Given the description of an element on the screen output the (x, y) to click on. 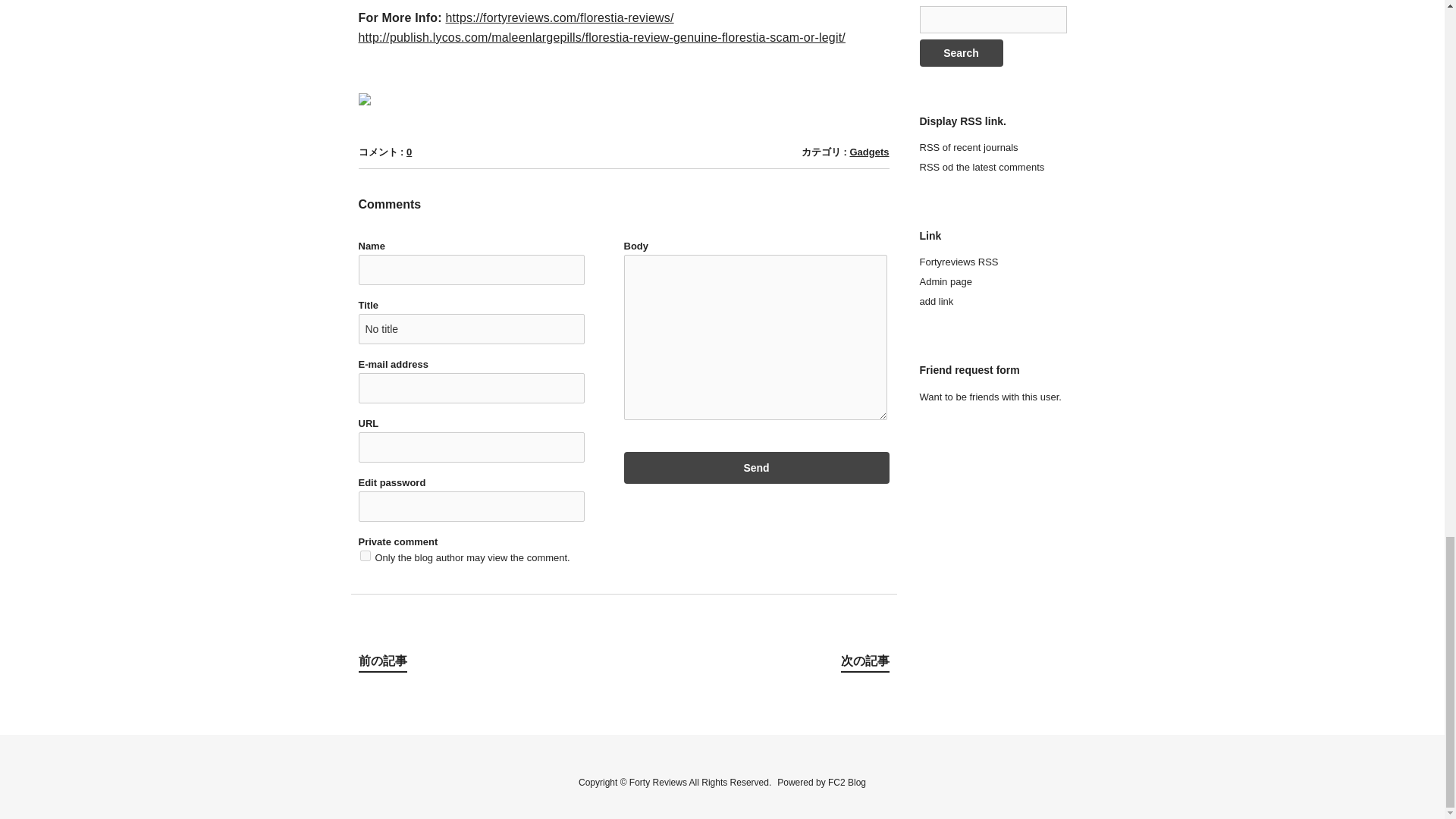
Send (755, 468)
Gadgets (868, 152)
on (364, 555)
Send (755, 468)
No title (470, 328)
View the category list (868, 152)
 Search  (960, 52)
